Given the description of an element on the screen output the (x, y) to click on. 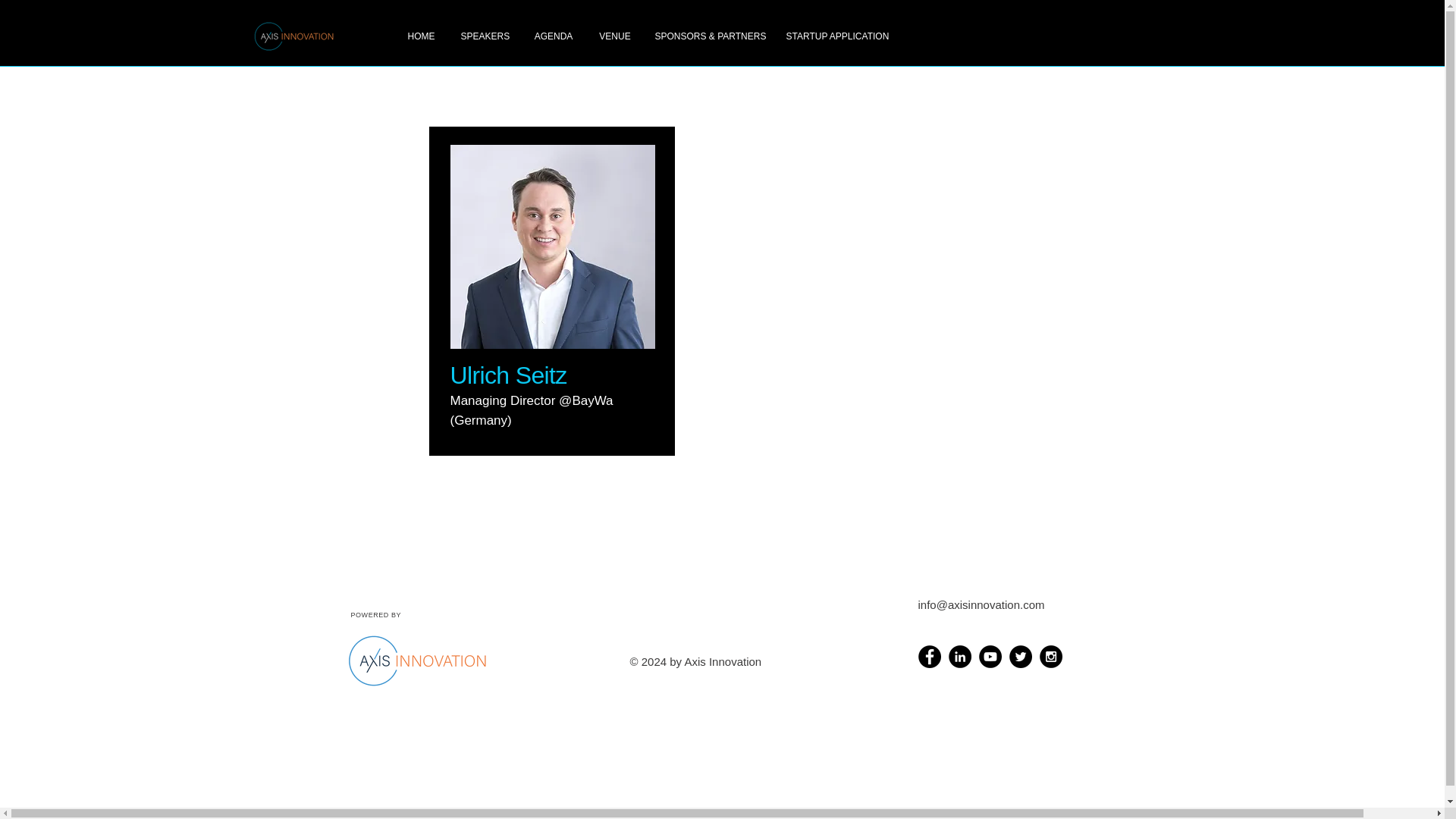
HOME (420, 36)
STARTUP APPLICATION (836, 36)
AGENDA (552, 36)
VENUE (614, 36)
SPEAKERS (483, 36)
